Given the description of an element on the screen output the (x, y) to click on. 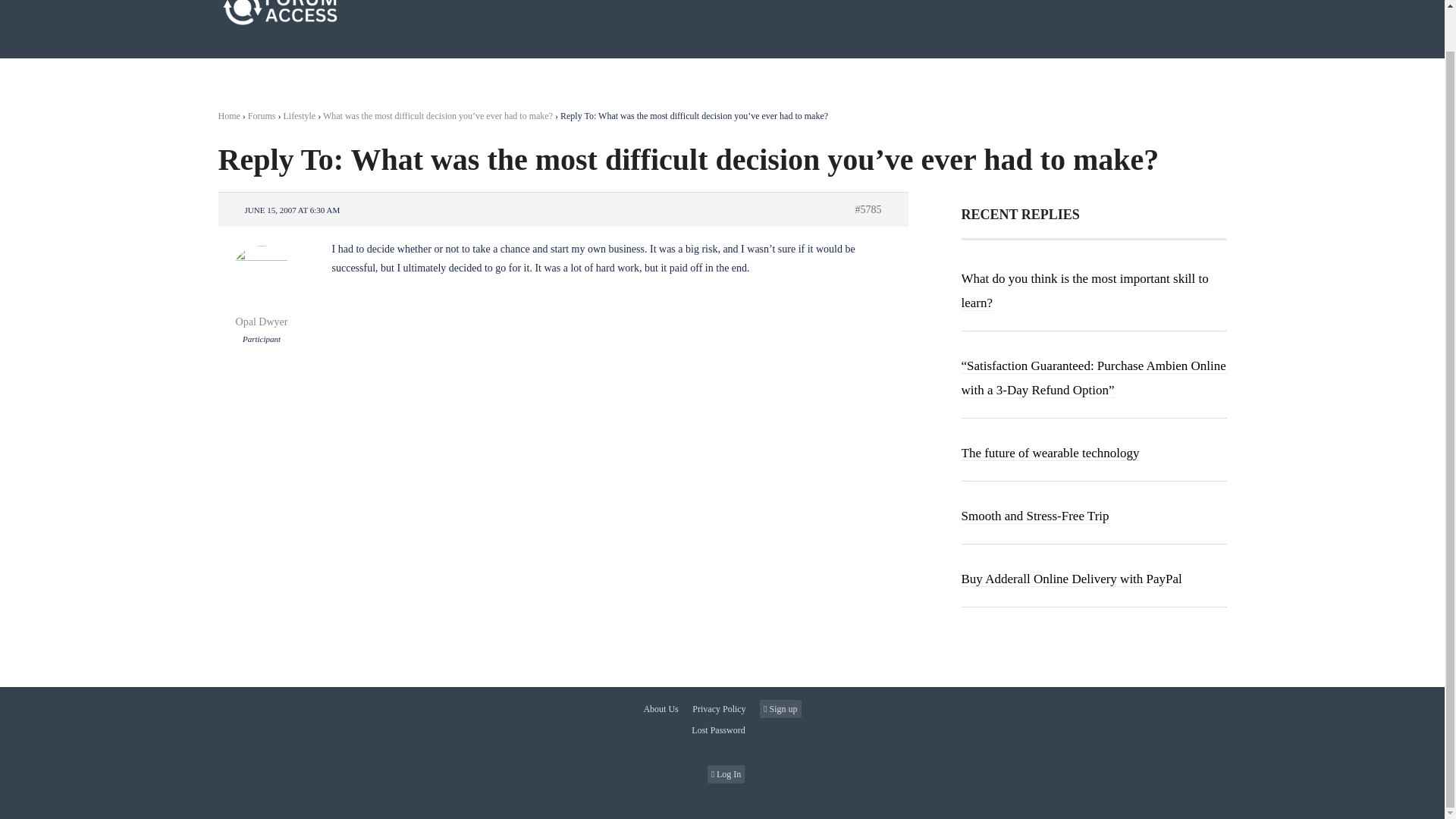
Log In (726, 773)
Lost Password (721, 730)
Forums (261, 115)
What do you think is the most important skill to learn? (1084, 291)
About Us (664, 709)
Sign up (780, 709)
Lifestyle (299, 115)
View Opal Dwyer's profile (261, 314)
Home (229, 115)
The future of wearable technology (1050, 453)
Buy Adderall Online Delivery with PayPal (1071, 579)
Opal Dwyer (261, 314)
Smooth and Stress-Free Trip (1034, 516)
Adobe After Effects itscracksoft (1050, 453)
Privacy Policy (718, 709)
